Given the description of an element on the screen output the (x, y) to click on. 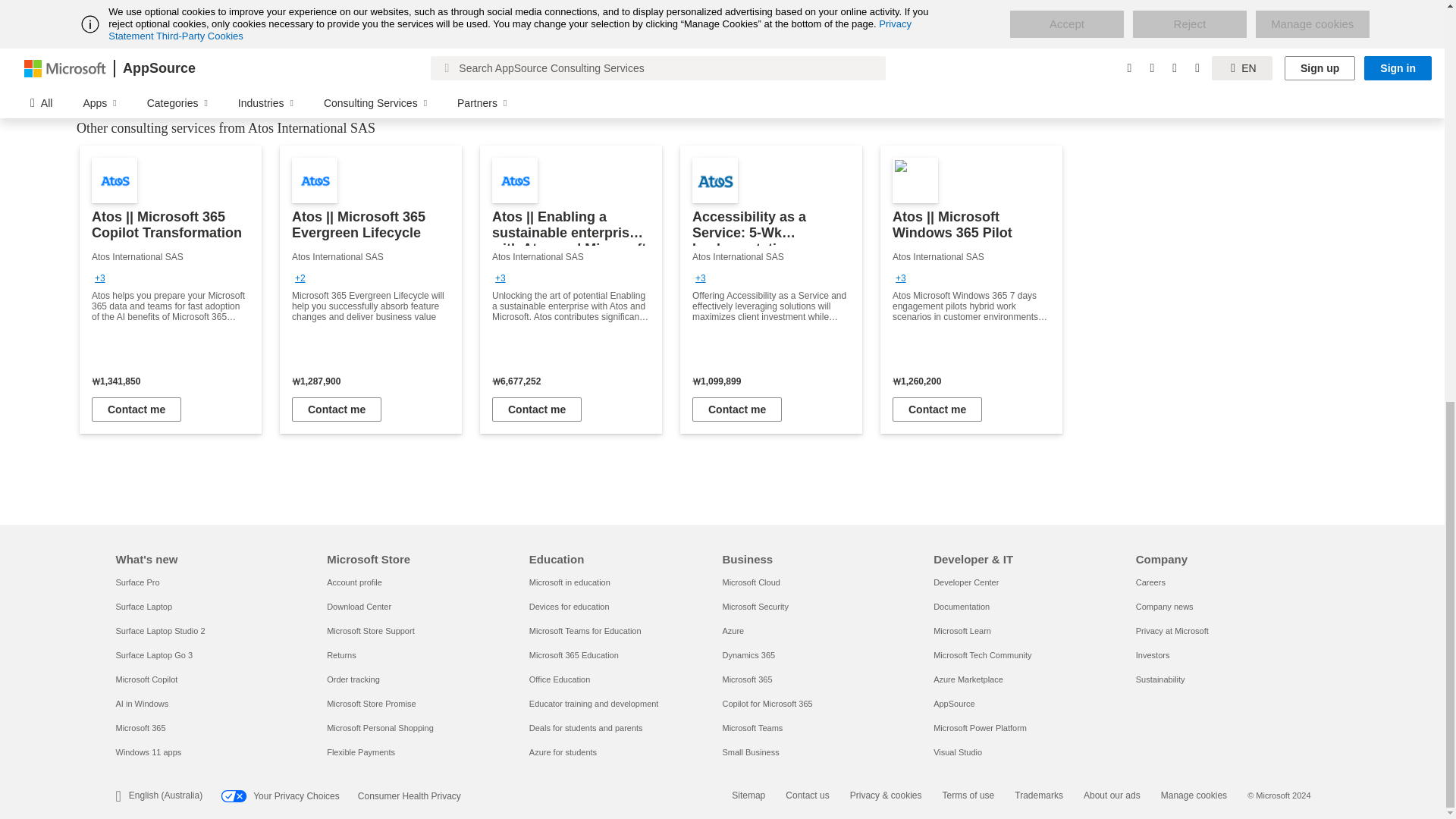
Contact me (936, 409)
Contact me (135, 409)
Contact me (737, 409)
Contact me (336, 409)
Contact me (536, 409)
Surface Pro (136, 582)
